Given the description of an element on the screen output the (x, y) to click on. 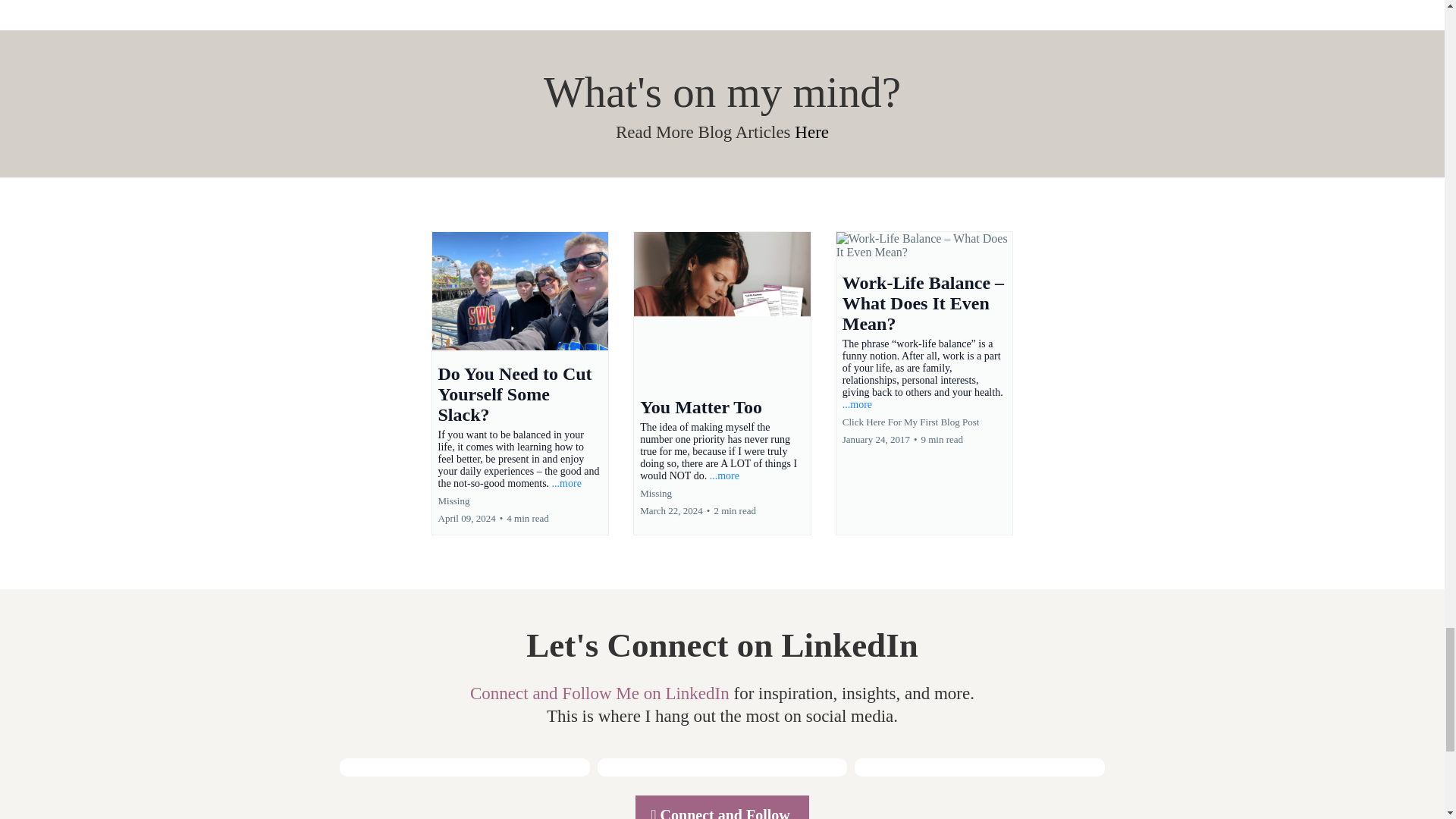
You Matter Too (700, 406)
Here (811, 131)
...more (565, 482)
Do You Need to Cut Yourself Some Slack? (515, 394)
